Given the description of an element on the screen output the (x, y) to click on. 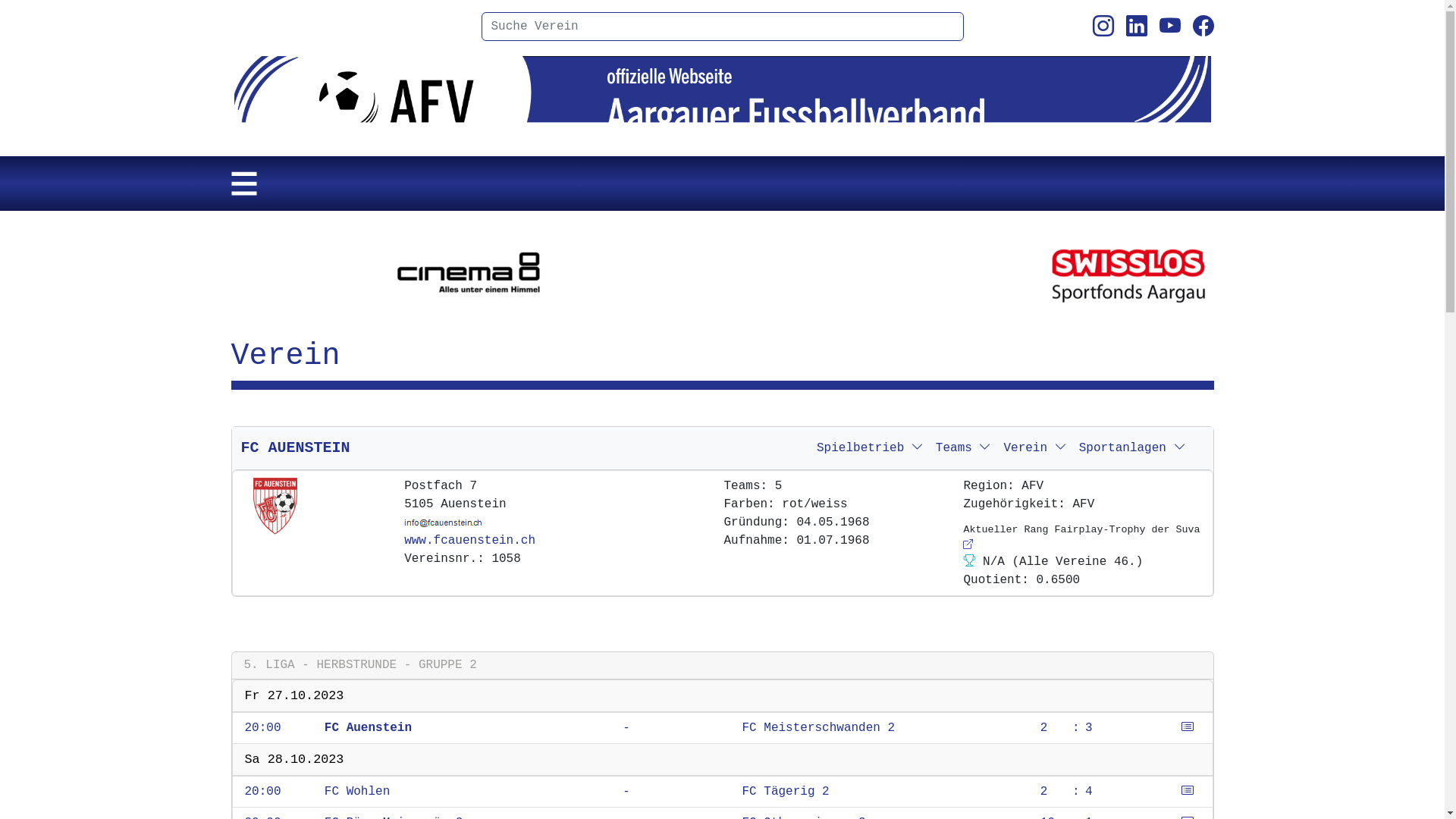
20:00
FC Auenstein
-
FC Meisterschwanden 2
2
:
3 Element type: text (722, 727)
Sportanlagen Element type: text (1132, 448)
Rangliste Fairplay-Trophy der Suva Element type: hover (967, 544)
Teams Element type: text (963, 448)
FC AUENSTEIN Element type: text (295, 447)
Youtube Element type: hover (1168, 27)
Spielbetrieb Element type: text (869, 448)
Instagram Element type: hover (1102, 27)
Linkedin Element type: hover (1135, 27)
Facebook Element type: hover (1202, 27)
Verein Element type: text (1034, 448)
www.fcauenstein.ch Element type: text (469, 540)
